Given the description of an element on the screen output the (x, y) to click on. 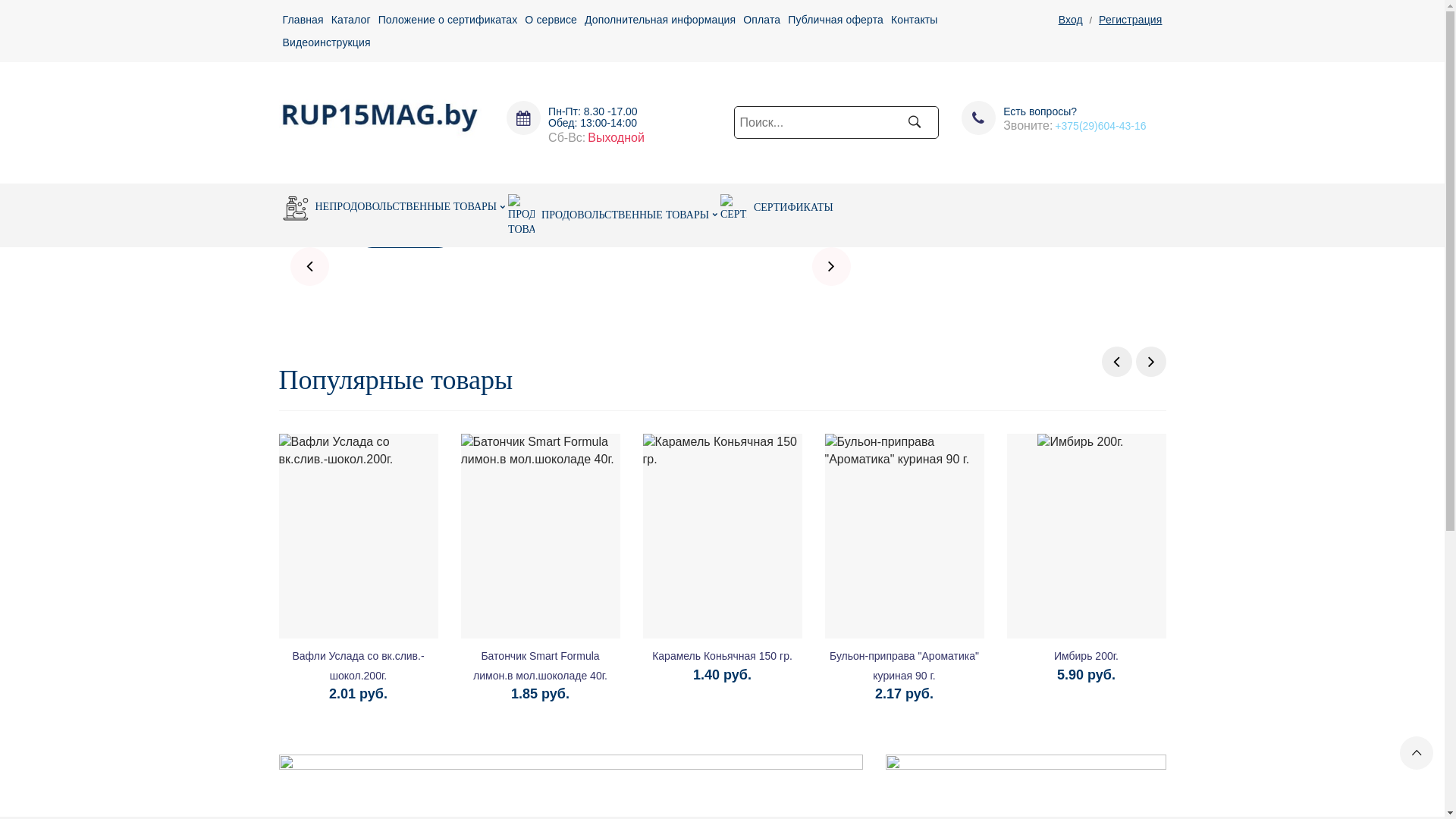
+375(29)604-43-16 Element type: text (1099, 125)
